Given the description of an element on the screen output the (x, y) to click on. 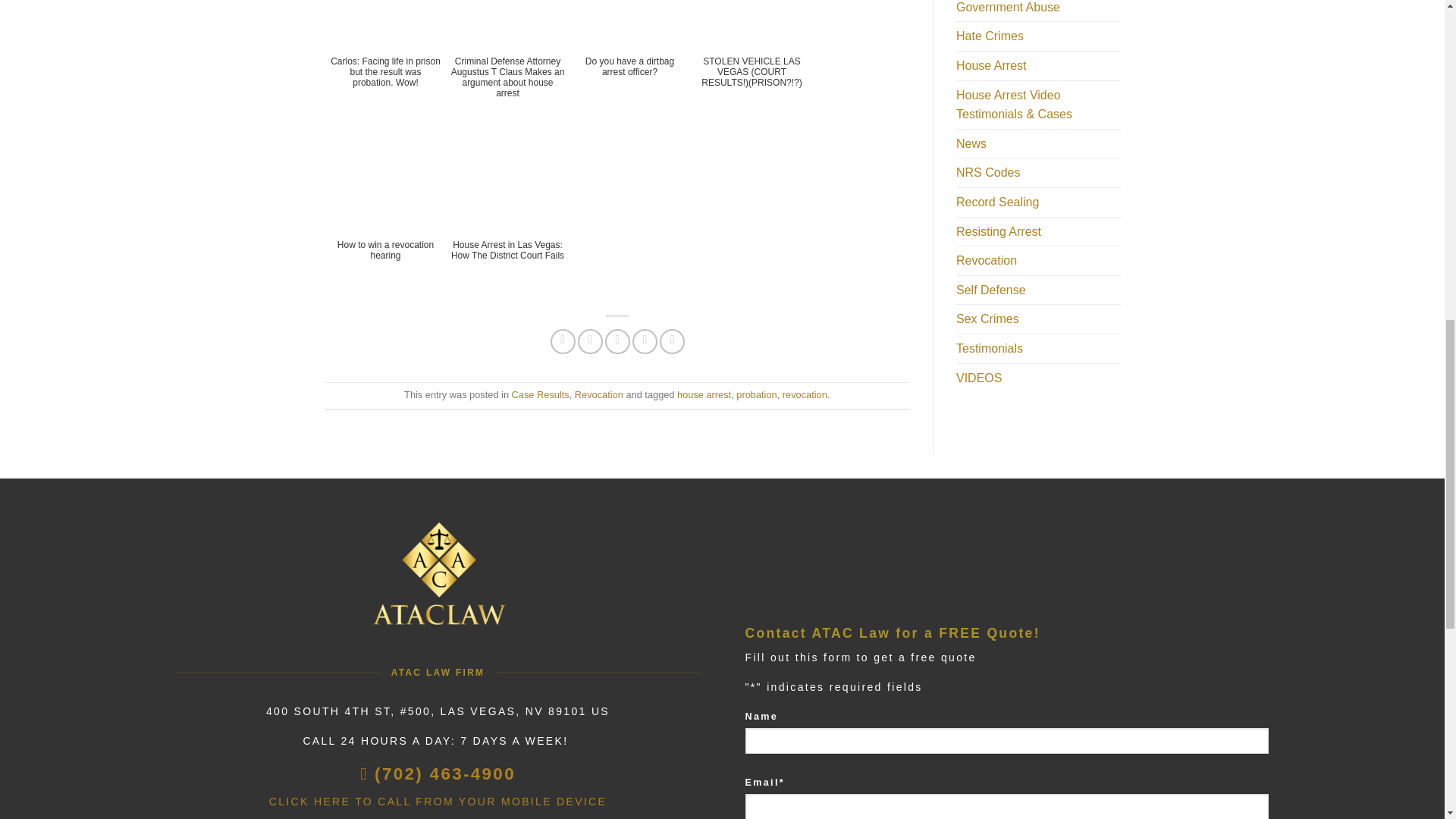
Email to a Friend (617, 341)
Share on LinkedIn (671, 341)
Pin on Pinterest (644, 341)
Share on Facebook (562, 341)
Share on Twitter (590, 341)
Do you have a dirtbag arrest officer? (630, 57)
